Given the description of an element on the screen output the (x, y) to click on. 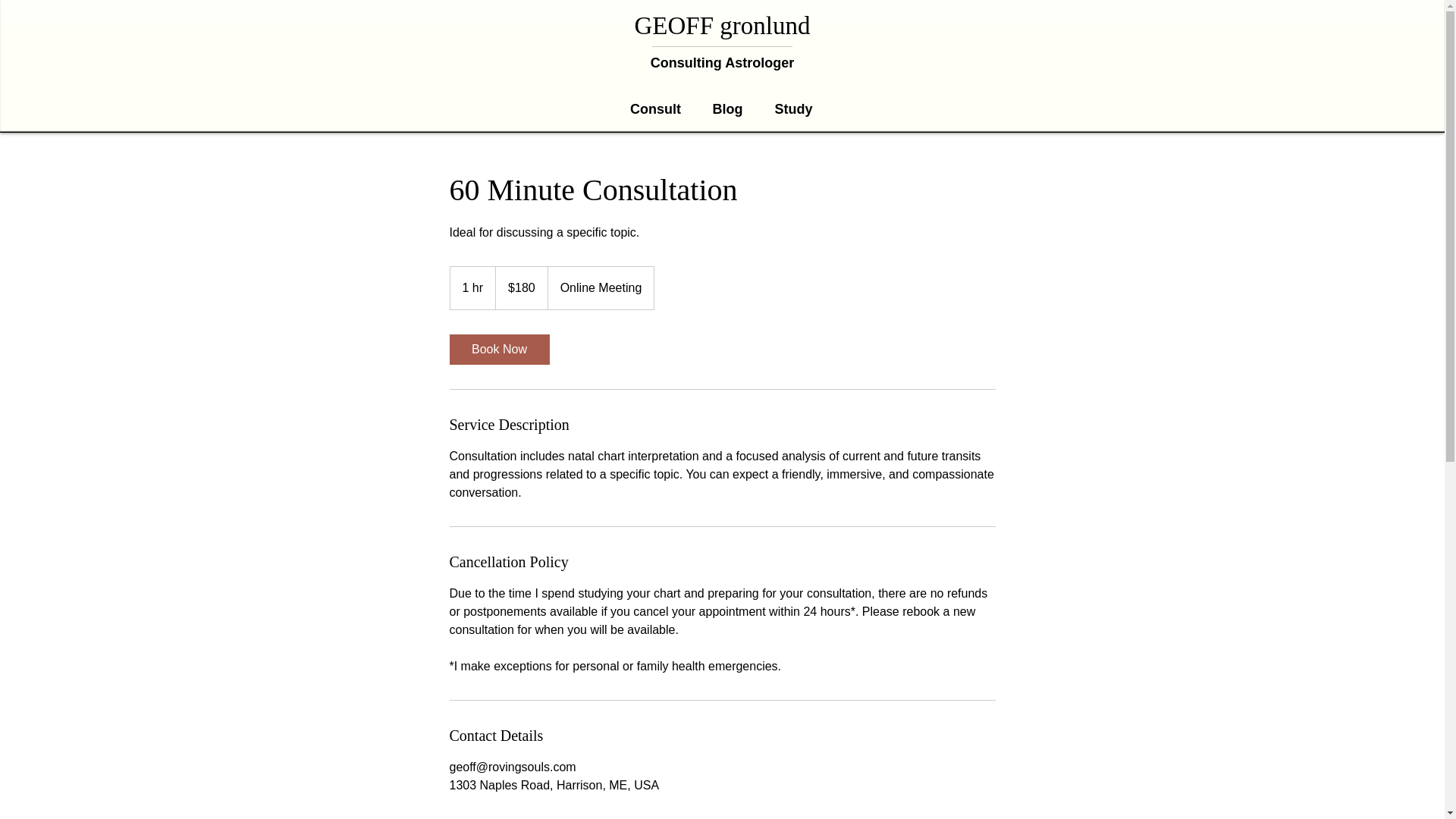
GEOFF gronlund (722, 25)
Study (793, 107)
Book Now (498, 349)
Blog (726, 107)
Consult (654, 107)
